Given the description of an element on the screen output the (x, y) to click on. 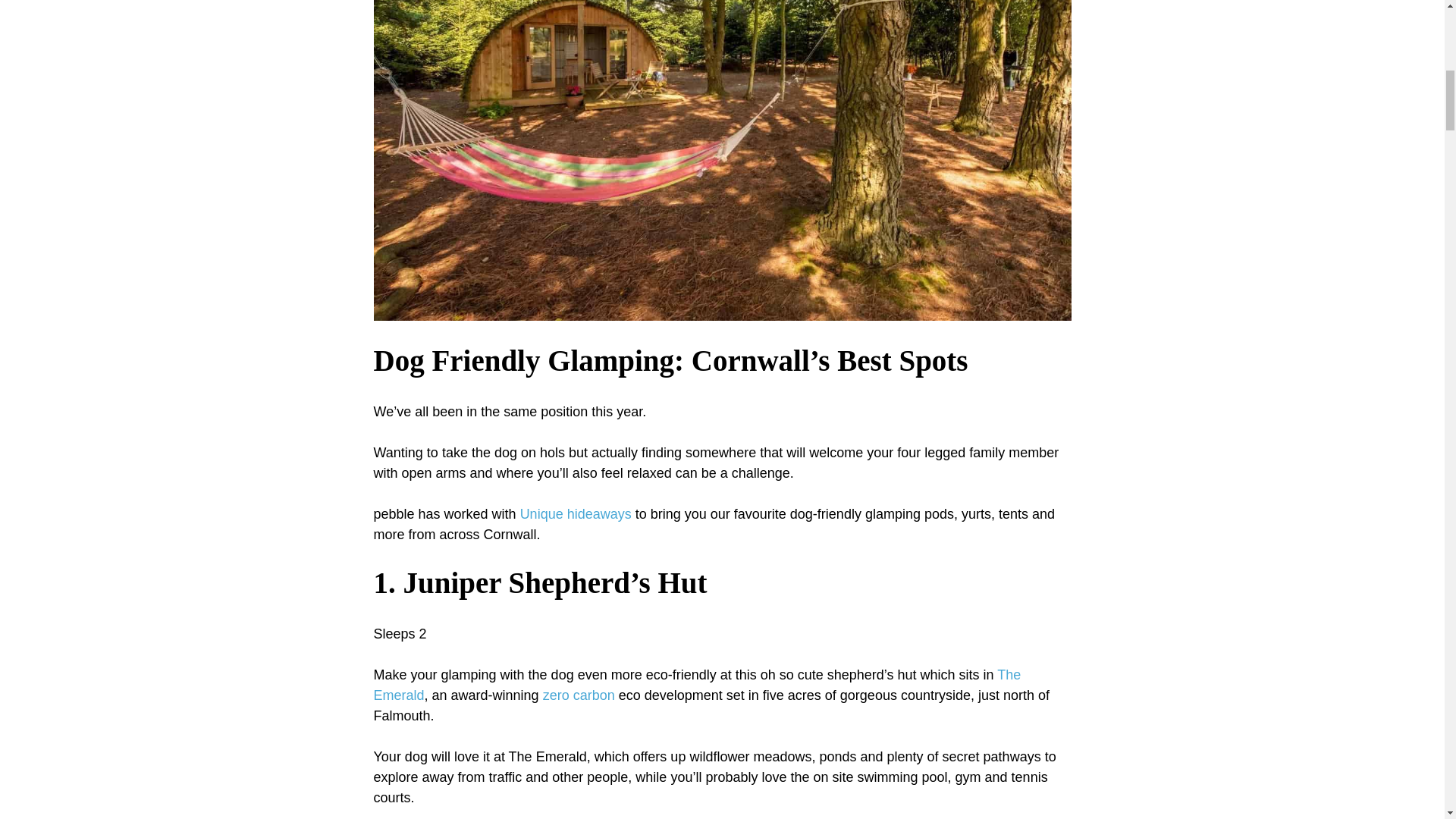
Unique hideaways (575, 513)
zero carbon (578, 694)
The Emerald (696, 684)
